Given the description of an element on the screen output the (x, y) to click on. 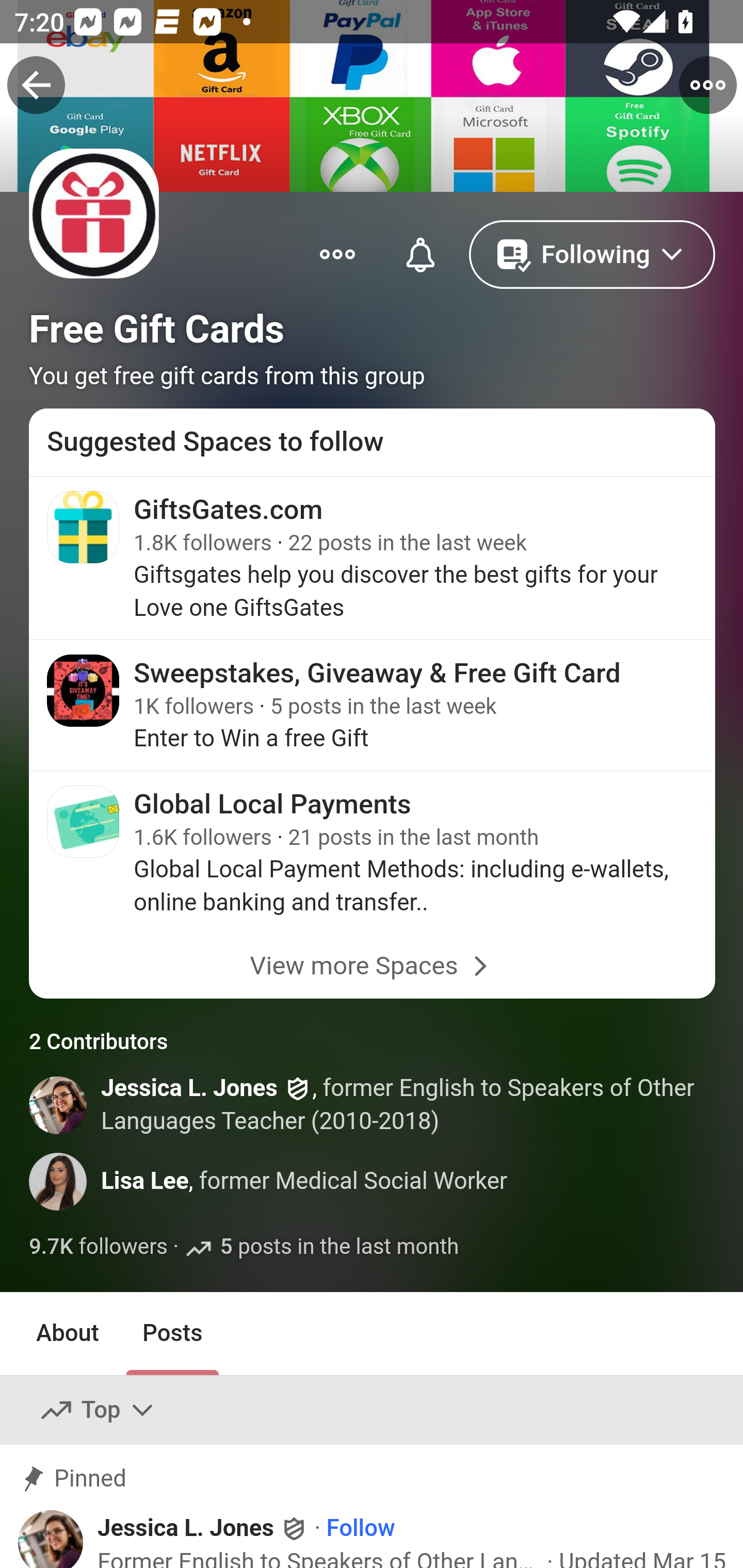
Me Spaces Search (371, 82)
More (337, 252)
Personalized (420, 252)
Following (591, 252)
Free Gift Cards (156, 329)
View more Spaces (372, 966)
Jessica L. Jones (189, 1089)
Profile photo for Jessica L. Jones (58, 1105)
Profile photo for Lisa Lee (58, 1181)
Lisa Lee (145, 1180)
9.7K followers (98, 1246)
About (68, 1333)
Posts (171, 1333)
Top (97, 1409)
Profile photo for Jessica L. Jones (57, 1538)
Jessica L. Jones Jessica L. Jones   (203, 1527)
Follow (360, 1528)
Updated Mar 15 Updated  Mar 15 (642, 1557)
